Given the description of an element on the screen output the (x, y) to click on. 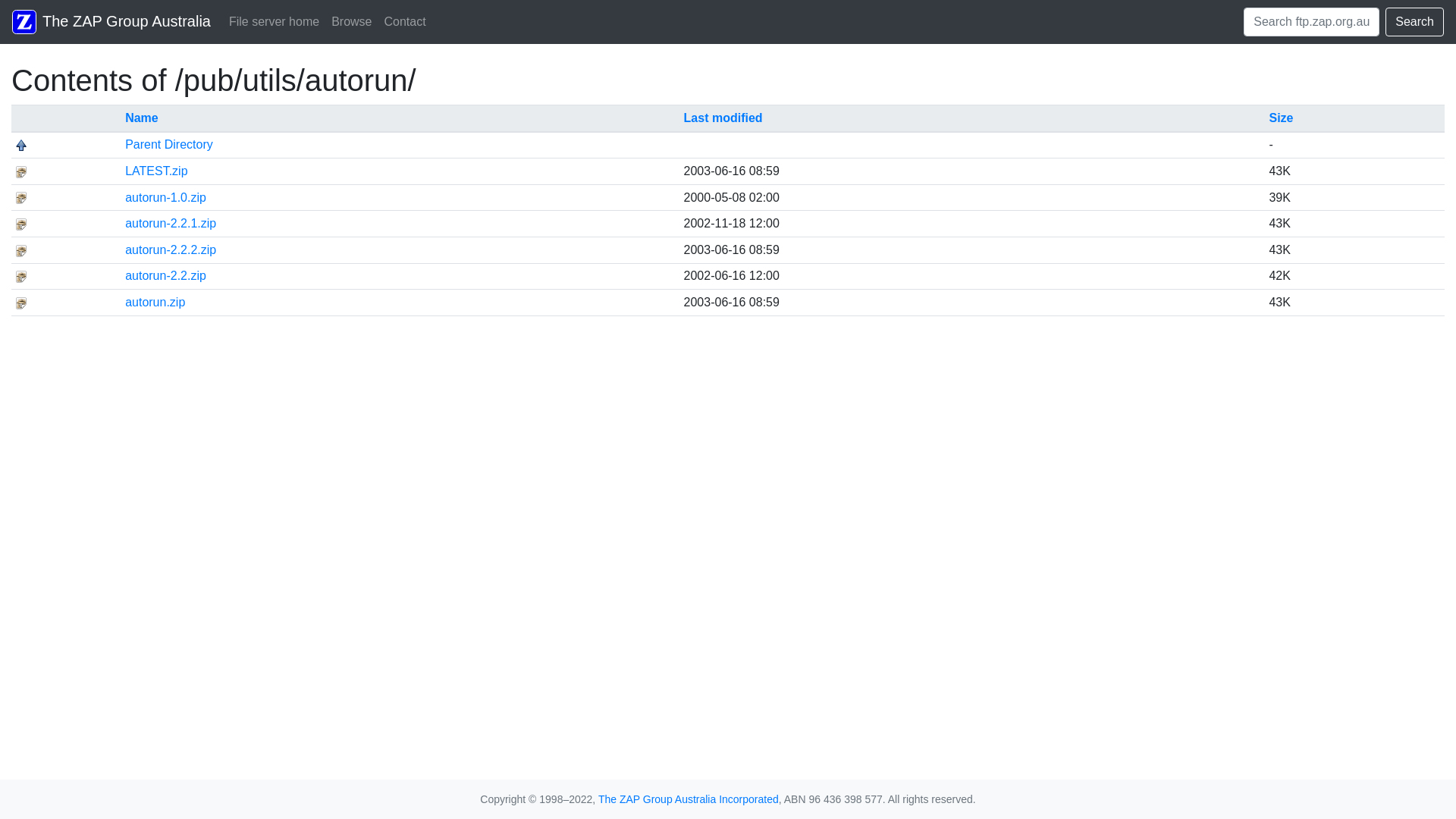
Size Element type: text (1280, 117)
Parent Directory Element type: text (169, 144)
Name Element type: text (141, 117)
autorun-2.2.1.zip Element type: text (170, 222)
The ZAP Group Australia Incorporated Element type: text (688, 799)
autorun.zip Element type: text (155, 301)
The ZAP Group Australia Element type: text (111, 21)
Contact Element type: text (404, 21)
File server home Element type: text (273, 21)
autorun-1.0.zip Element type: text (165, 197)
Search Element type: text (1414, 21)
autorun-2.2.zip Element type: text (165, 275)
autorun-2.2.2.zip Element type: text (170, 249)
Last modified Element type: text (723, 117)
Browse Element type: text (351, 21)
LATEST.zip Element type: text (156, 170)
